Given the description of an element on the screen output the (x, y) to click on. 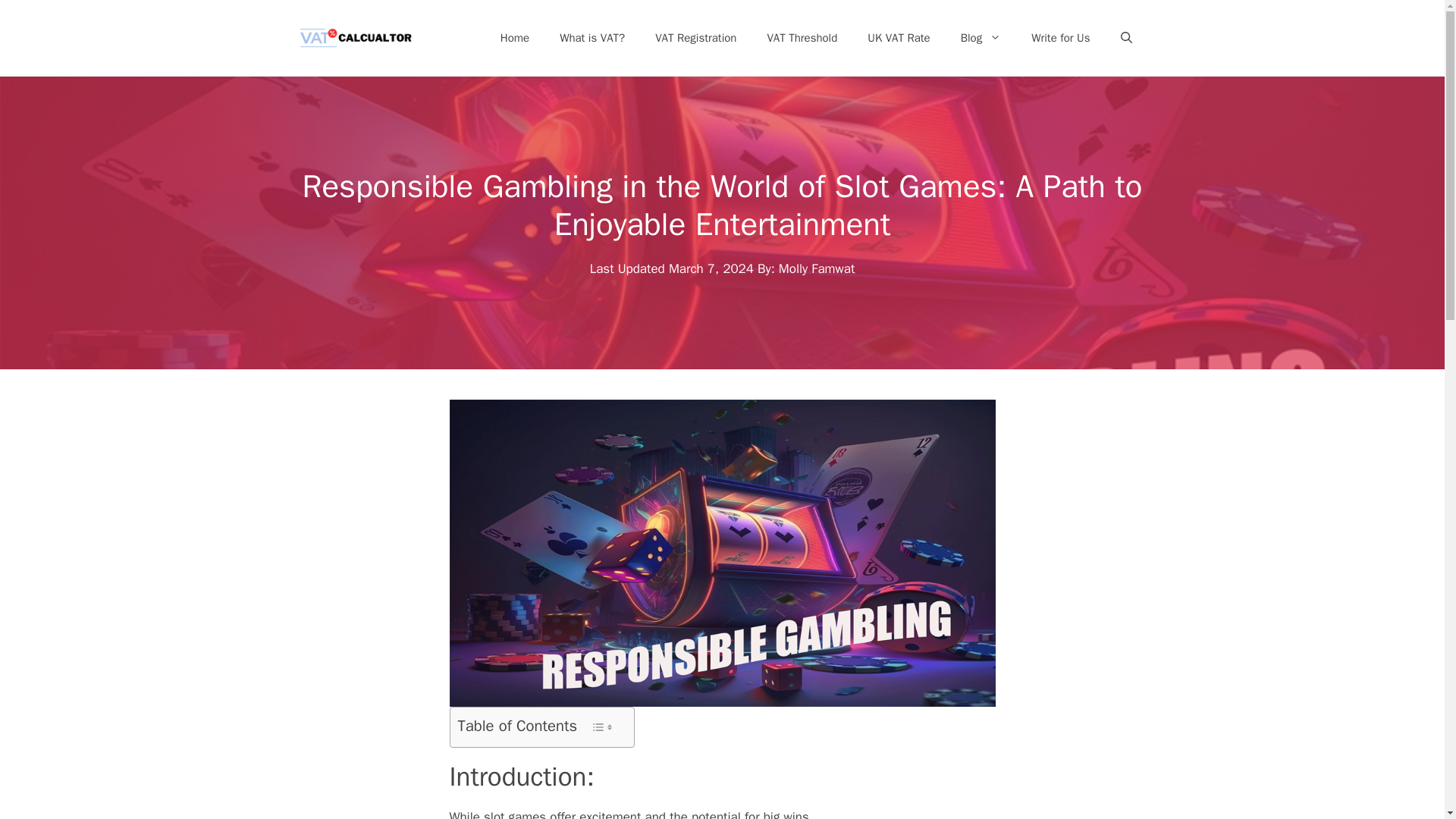
What is VAT? (592, 37)
UK VAT Rate (897, 37)
VAT Registration (695, 37)
Blog (980, 37)
Home (514, 37)
VAT Threshold (801, 37)
Write for Us (1060, 37)
